Given the description of an element on the screen output the (x, y) to click on. 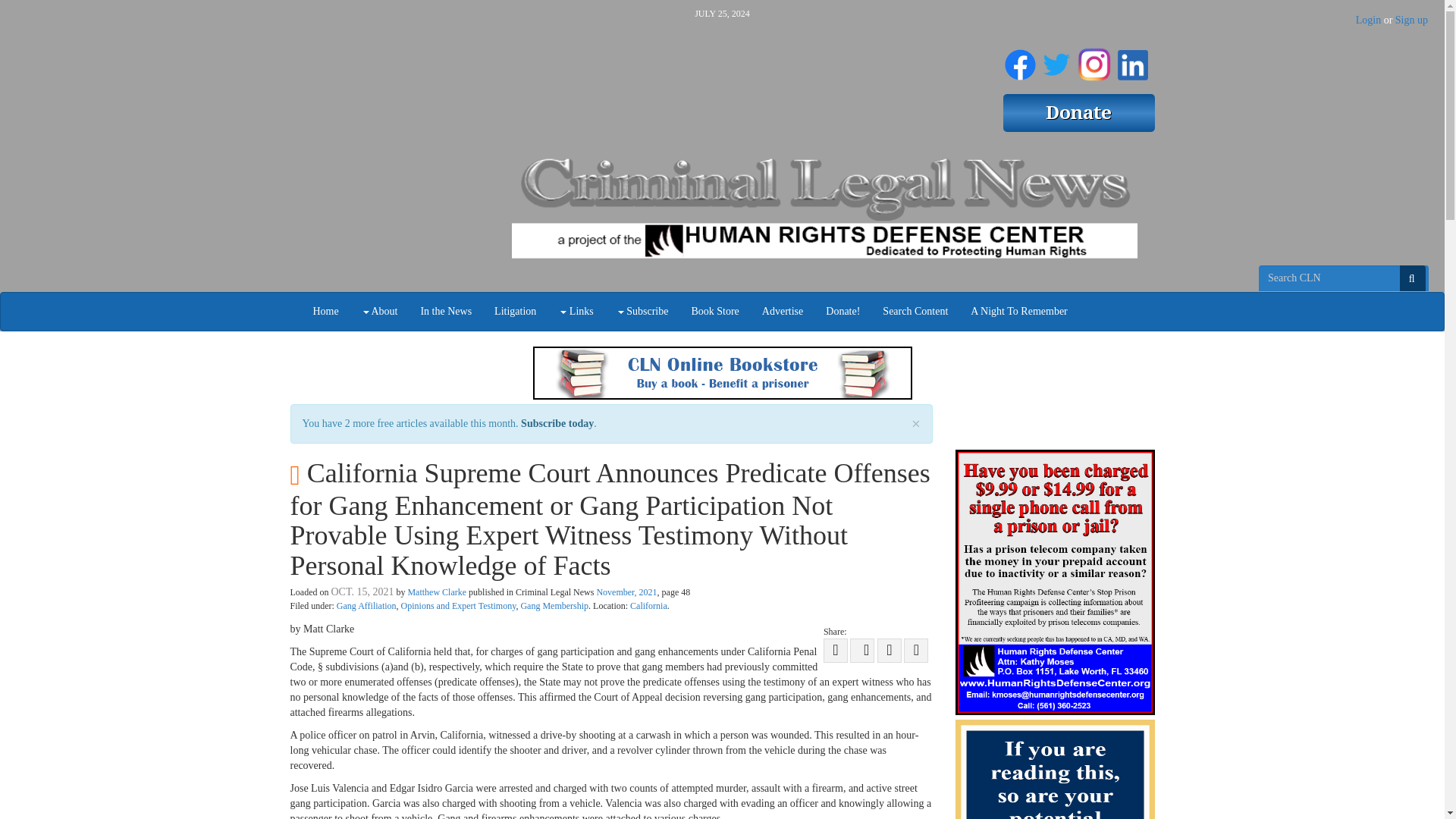
Book Store (714, 311)
Home (325, 311)
Advertise (782, 311)
Donate! (841, 311)
Search (1412, 278)
Subscribe today (557, 423)
About (379, 311)
In the News (446, 311)
Litigation (515, 311)
Subscribe (642, 311)
Sign up (1411, 19)
Links (575, 311)
Login (1367, 19)
Search Content (914, 311)
A Night To Remember (1018, 311)
